Given the description of an element on the screen output the (x, y) to click on. 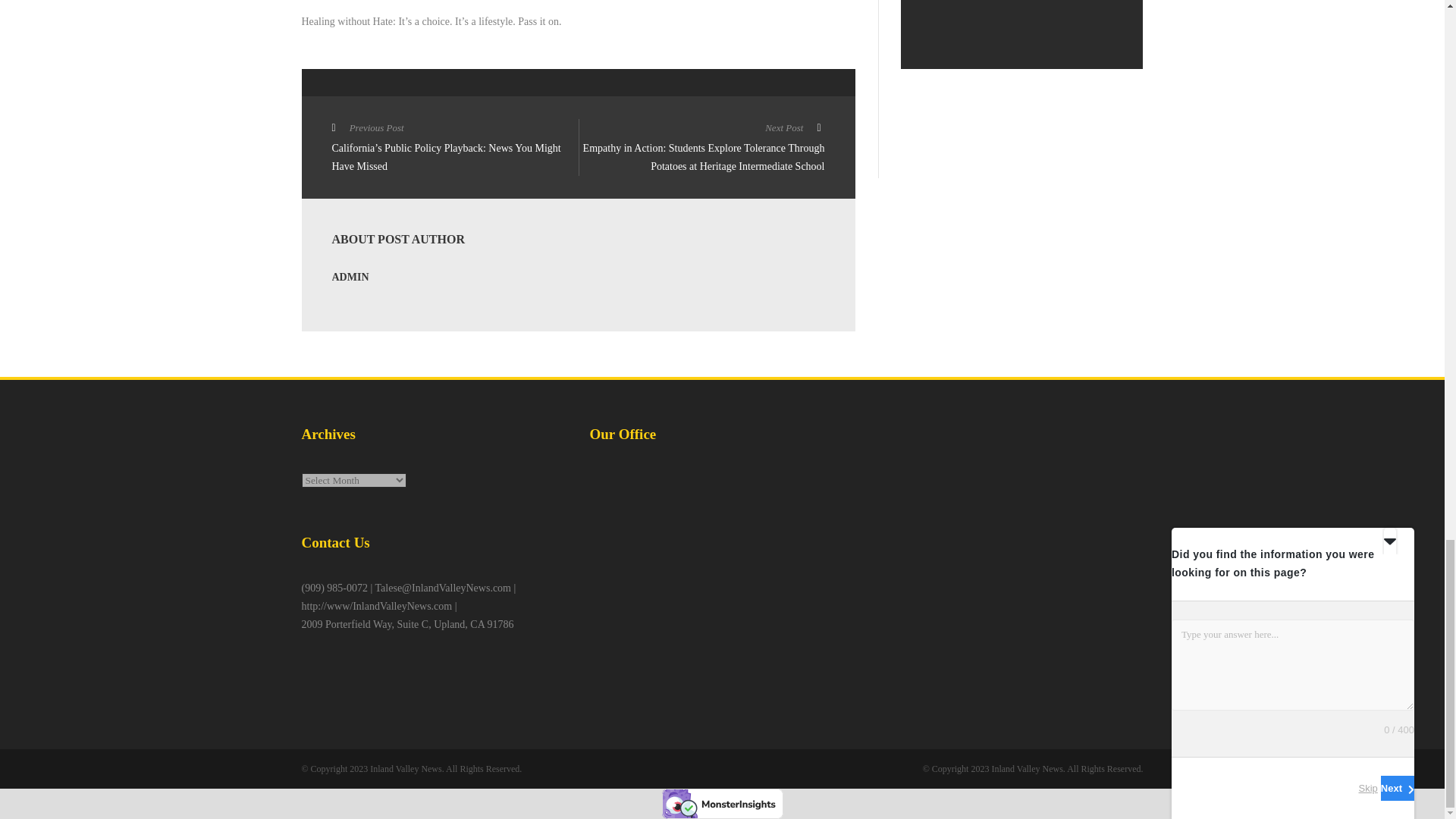
Posts by admin (350, 276)
ADMIN (350, 276)
